Given the description of an element on the screen output the (x, y) to click on. 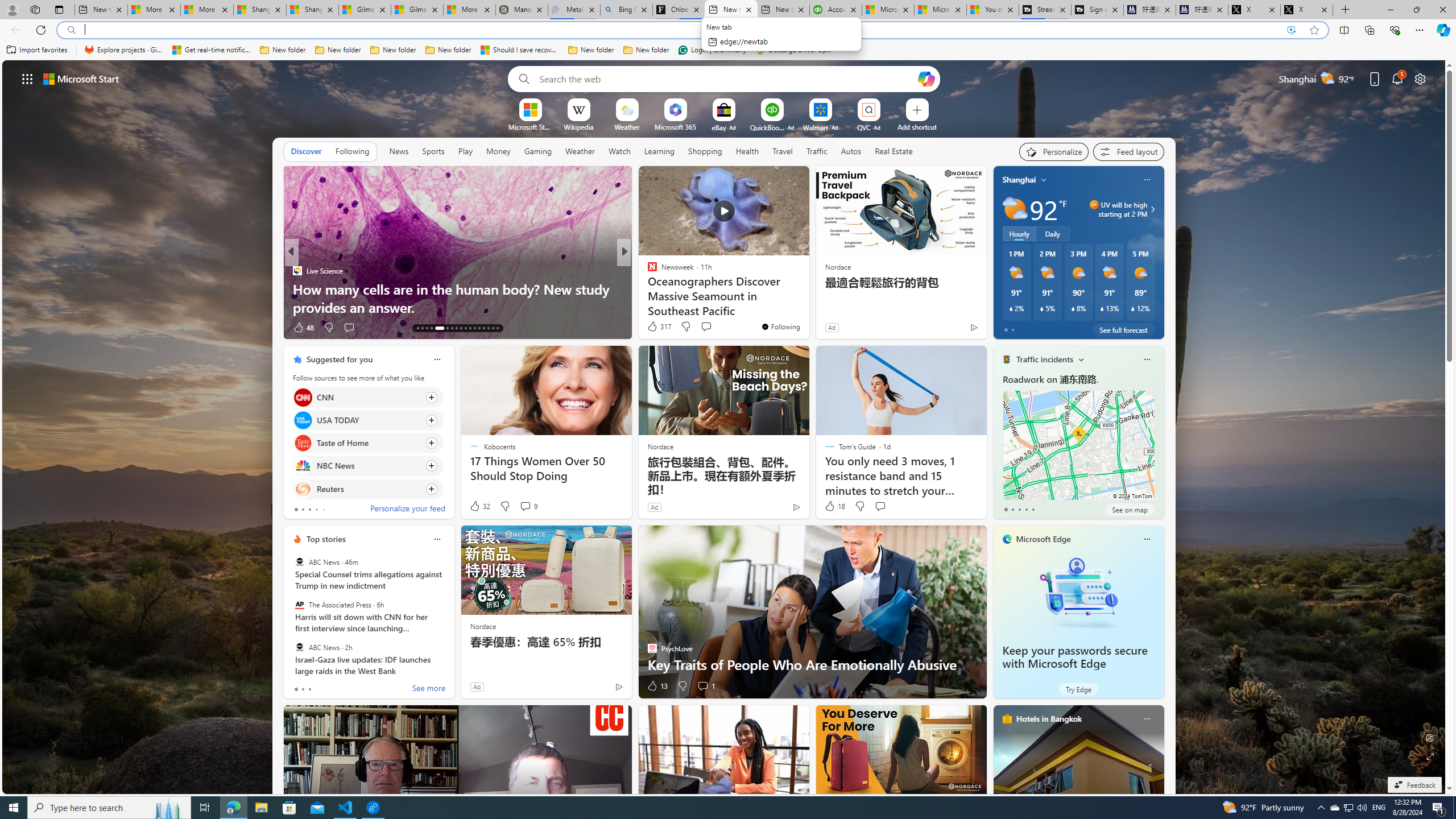
View comments 2 Comment (697, 327)
View comments 297 Comment (703, 327)
Import favorites (36, 49)
Money (498, 151)
ABC News (299, 646)
AutomationID: tab-18 (446, 328)
Click to follow source Reuters (367, 488)
60 Like (652, 327)
NBC News (302, 466)
See full forecast (1123, 329)
